Given the description of an element on the screen output the (x, y) to click on. 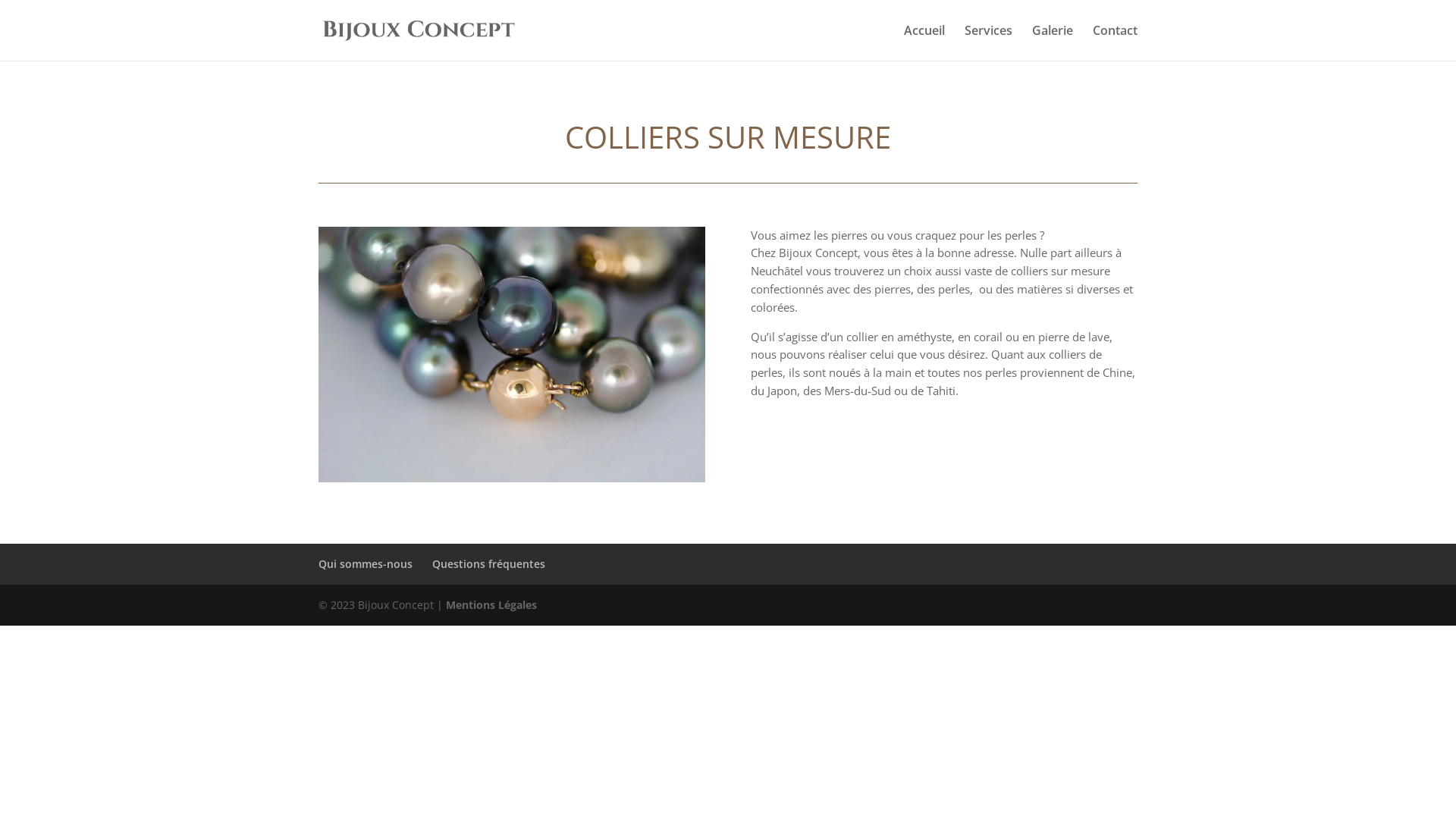
Accueil Element type: text (923, 42)
collier-sur-mesure Element type: hover (511, 354)
Galerie Element type: text (1052, 42)
Services Element type: text (988, 42)
Contact Element type: text (1114, 42)
Qui sommes-nous Element type: text (365, 563)
